Given the description of an element on the screen output the (x, y) to click on. 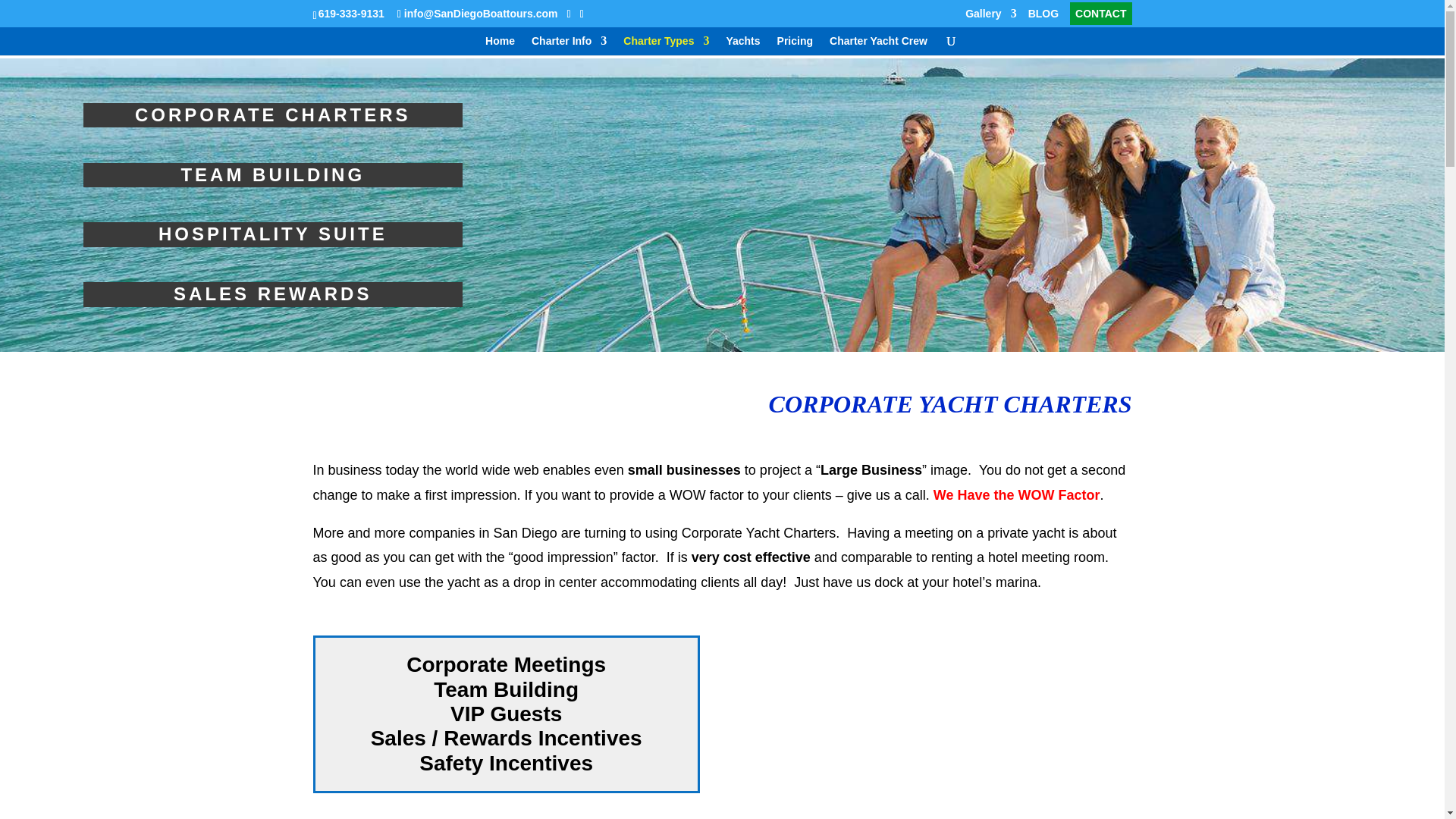
BLOG (1042, 16)
Mentor Graphics Corporate Charter (937, 727)
Home (499, 45)
Gallery (990, 16)
Charter Types (666, 45)
Charter Info (569, 45)
CONTACT (1100, 16)
Pricing (794, 45)
Yachts (742, 45)
Charter Yacht Crew (878, 45)
